Given the description of an element on the screen output the (x, y) to click on. 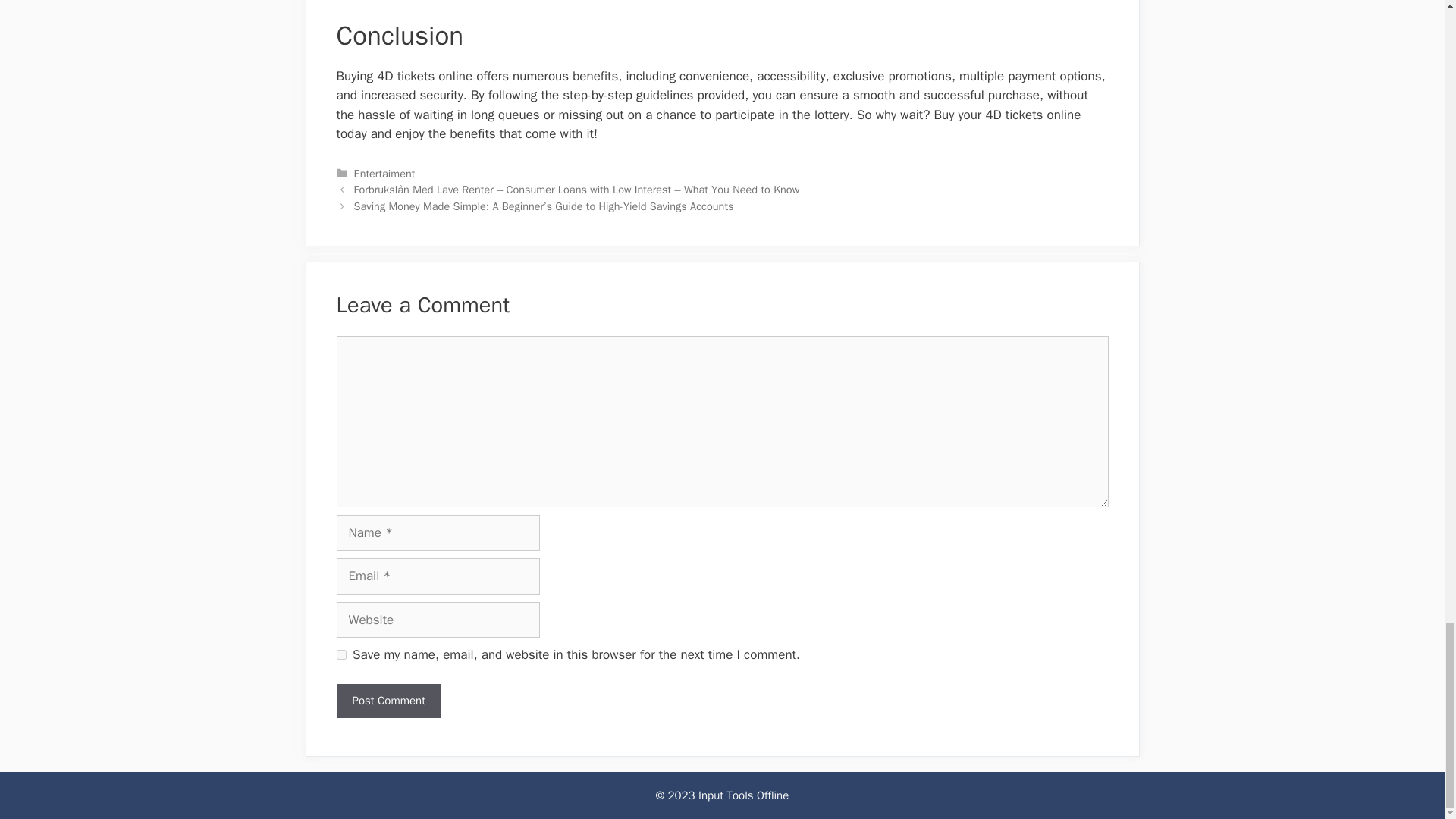
Entertaiment (383, 173)
yes (341, 655)
Post Comment (388, 700)
